Given the description of an element on the screen output the (x, y) to click on. 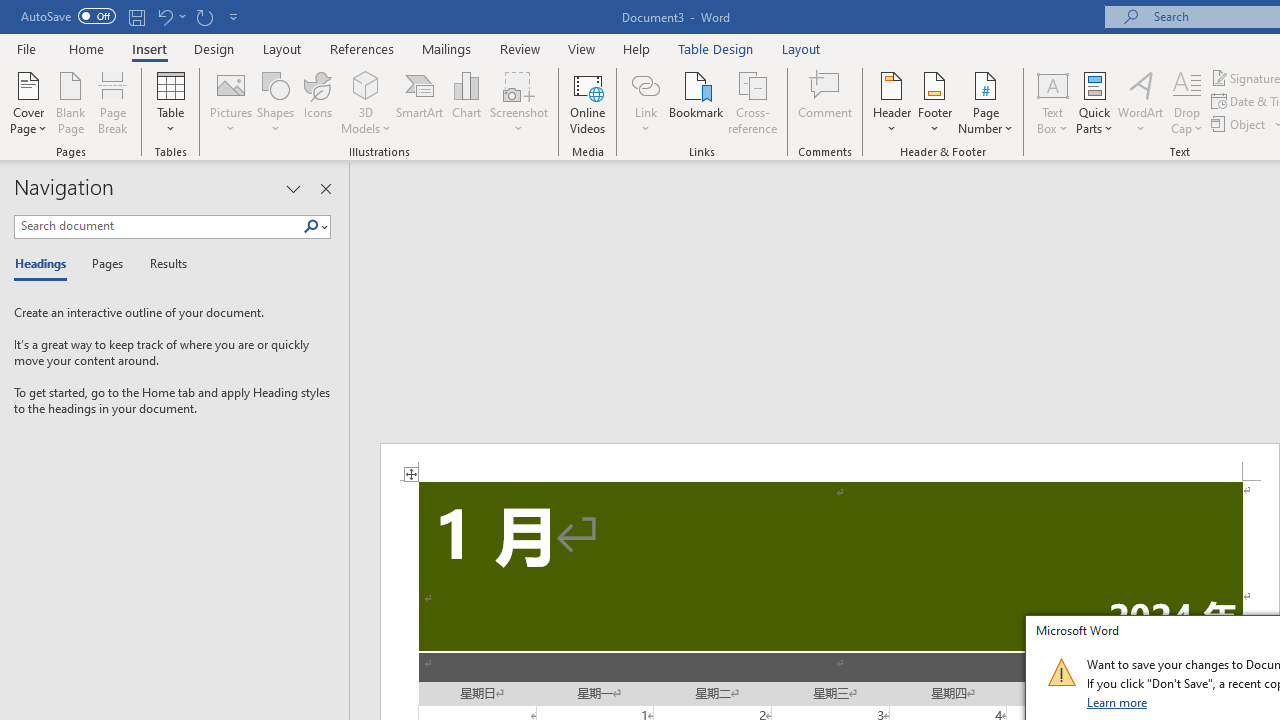
SmartArt... (419, 102)
Link (645, 102)
Online Videos... (588, 102)
Pictures (230, 102)
Shapes (275, 102)
Bookmark... (695, 102)
